Given the description of an element on the screen output the (x, y) to click on. 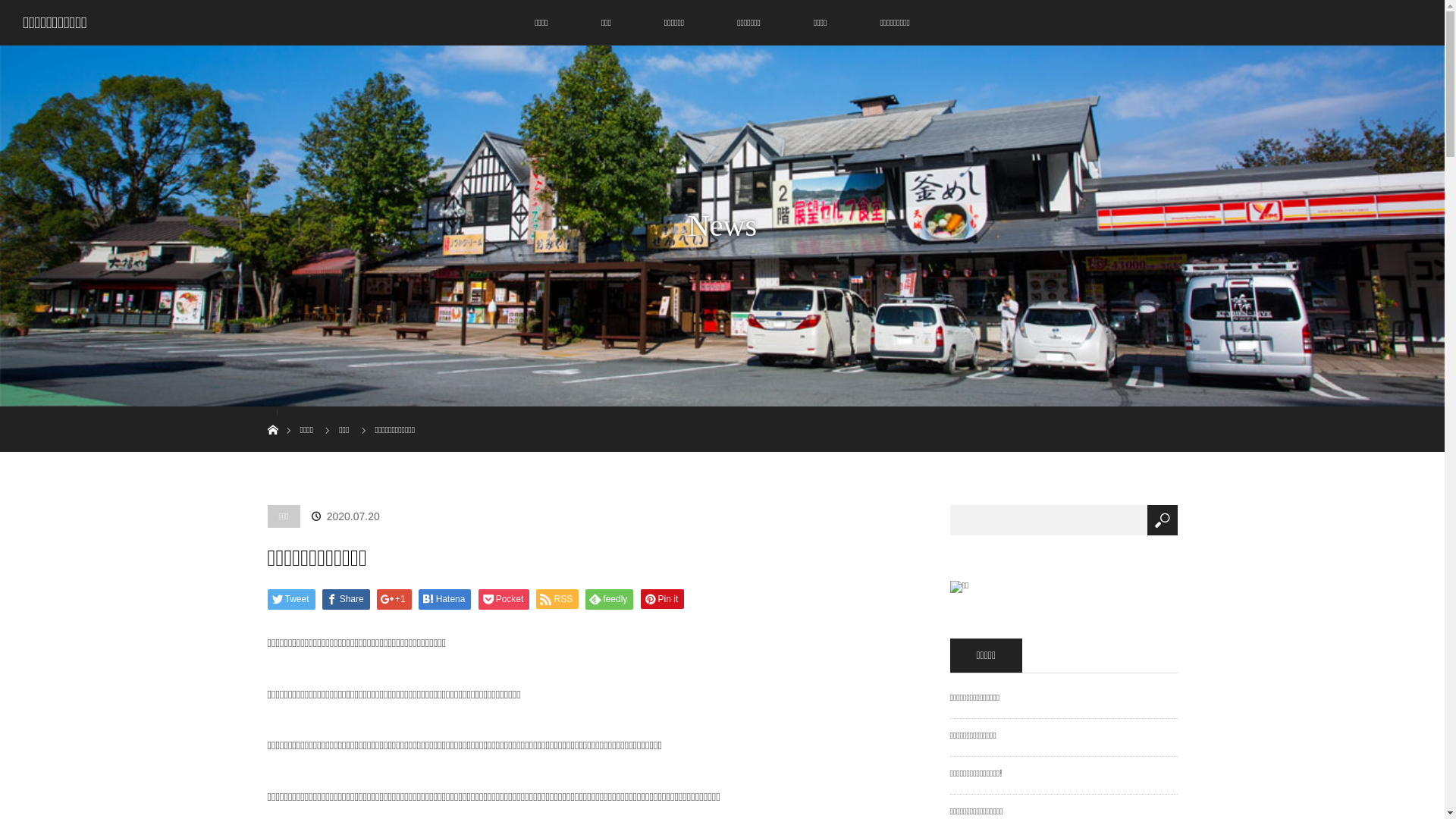
feedly Element type: text (609, 599)
Share Element type: text (346, 599)
+1 Element type: text (393, 599)
Tweet Element type: text (290, 599)
Hatena Element type: text (444, 599)
Pocket Element type: text (504, 599)
Pin it Element type: text (662, 598)
RSS Element type: text (557, 598)
